Given the description of an element on the screen output the (x, y) to click on. 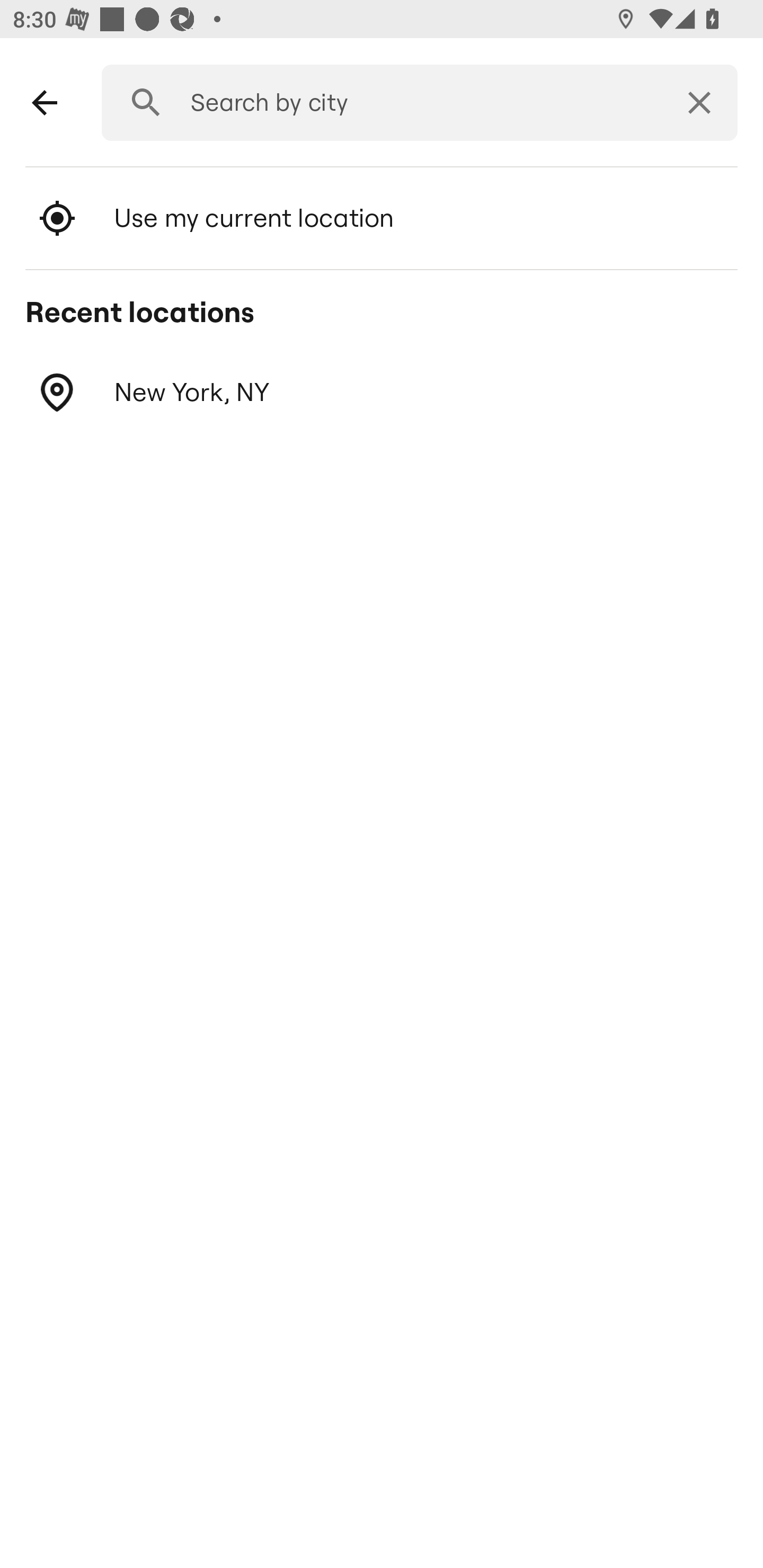
Back (44, 102)
Search by city (413, 102)
Clear (699, 102)
Use my current location (381, 218)
New York, NY (381, 392)
